Given the description of an element on the screen output the (x, y) to click on. 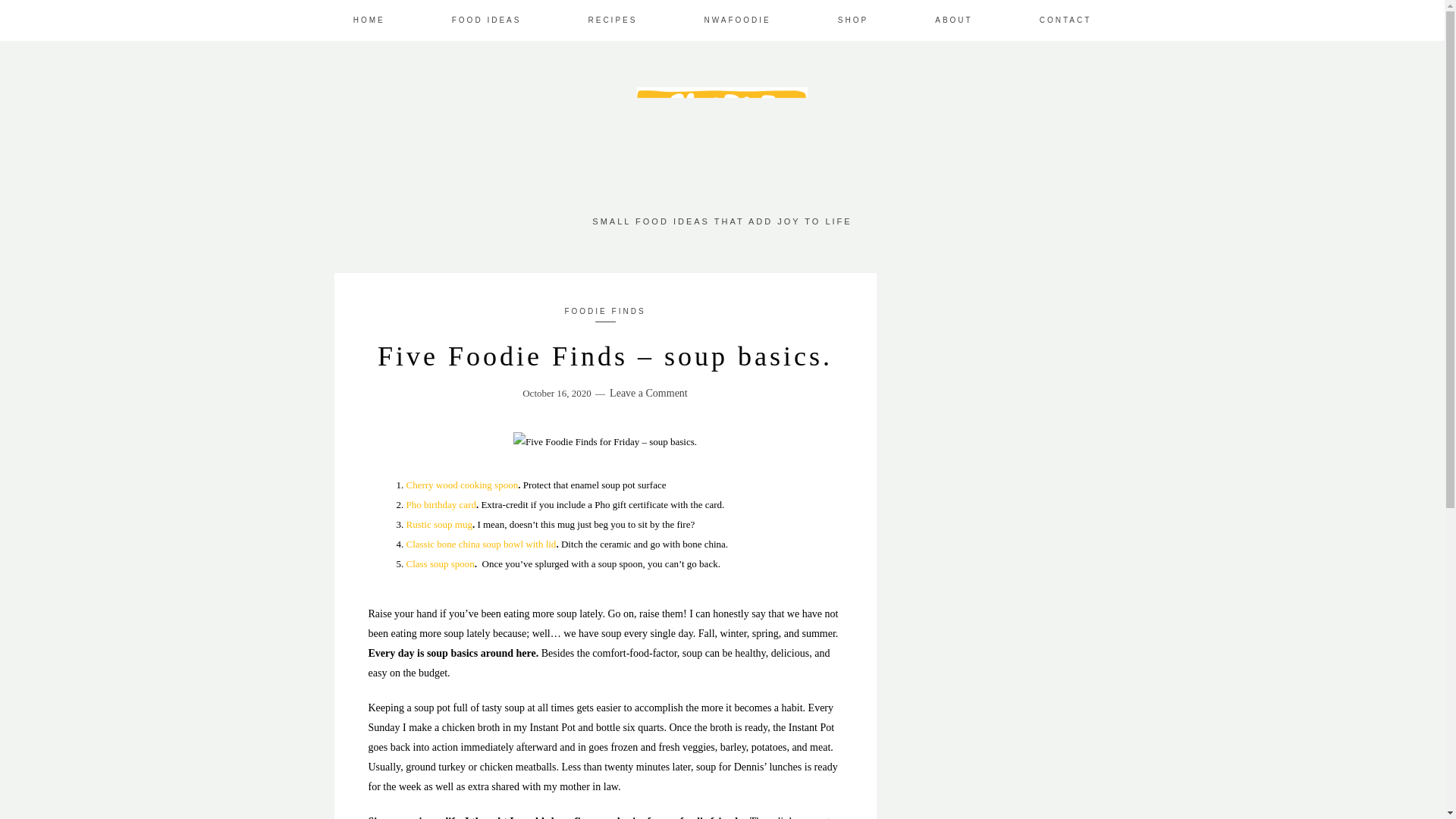
Classic bone china soup bowl with lid (481, 543)
RECIPES (612, 20)
CONTACT (1065, 20)
Pho birthday card (441, 504)
Leave a Comment (648, 392)
FOODIE FINDS (604, 311)
NWAFOODIE (736, 20)
Cherry wood cooking spoon (462, 484)
Class soup spoon (440, 563)
FOOD IDEAS (486, 20)
